Given the description of an element on the screen output the (x, y) to click on. 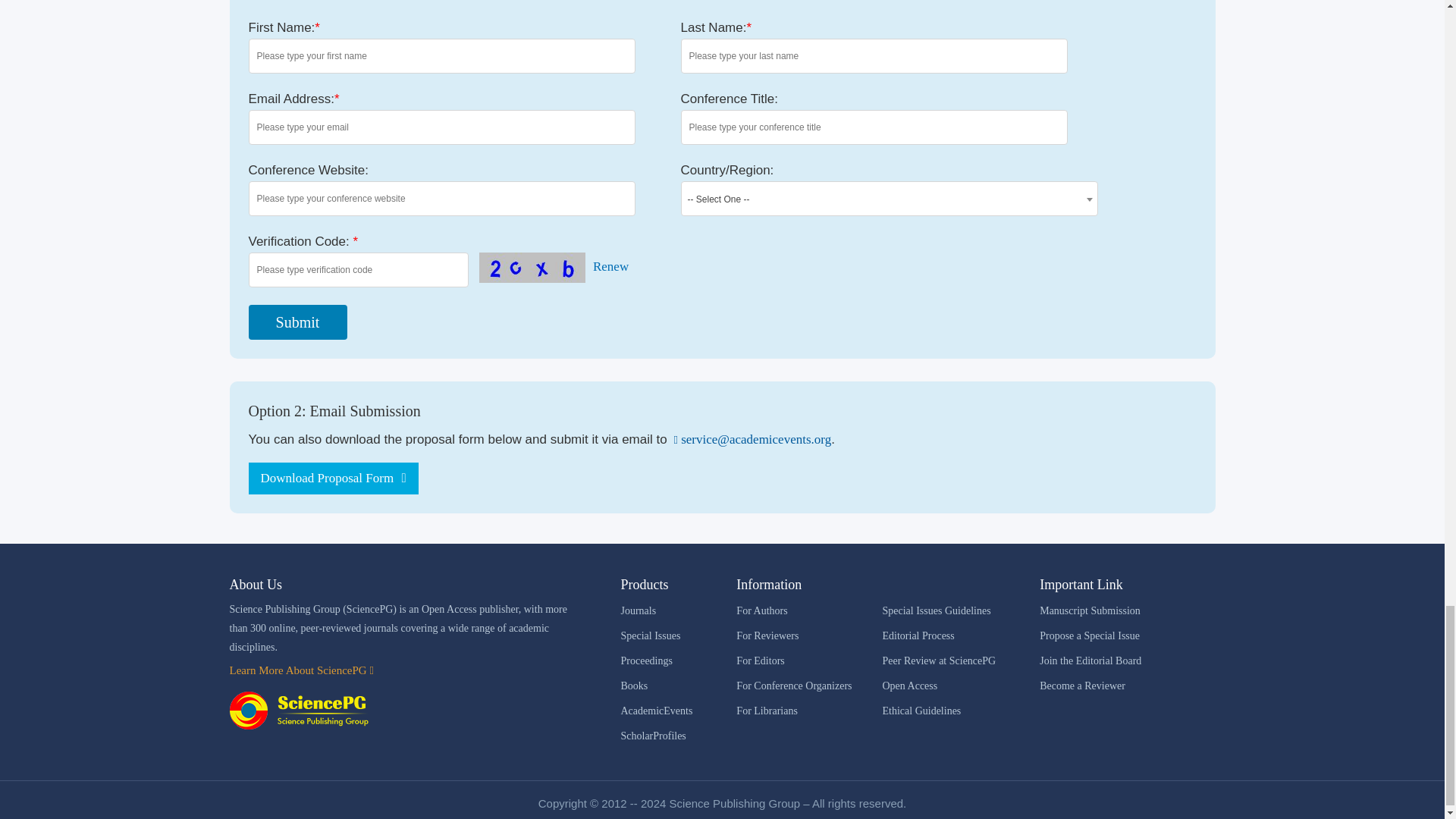
-- Select One -- (888, 199)
